Given the description of an element on the screen output the (x, y) to click on. 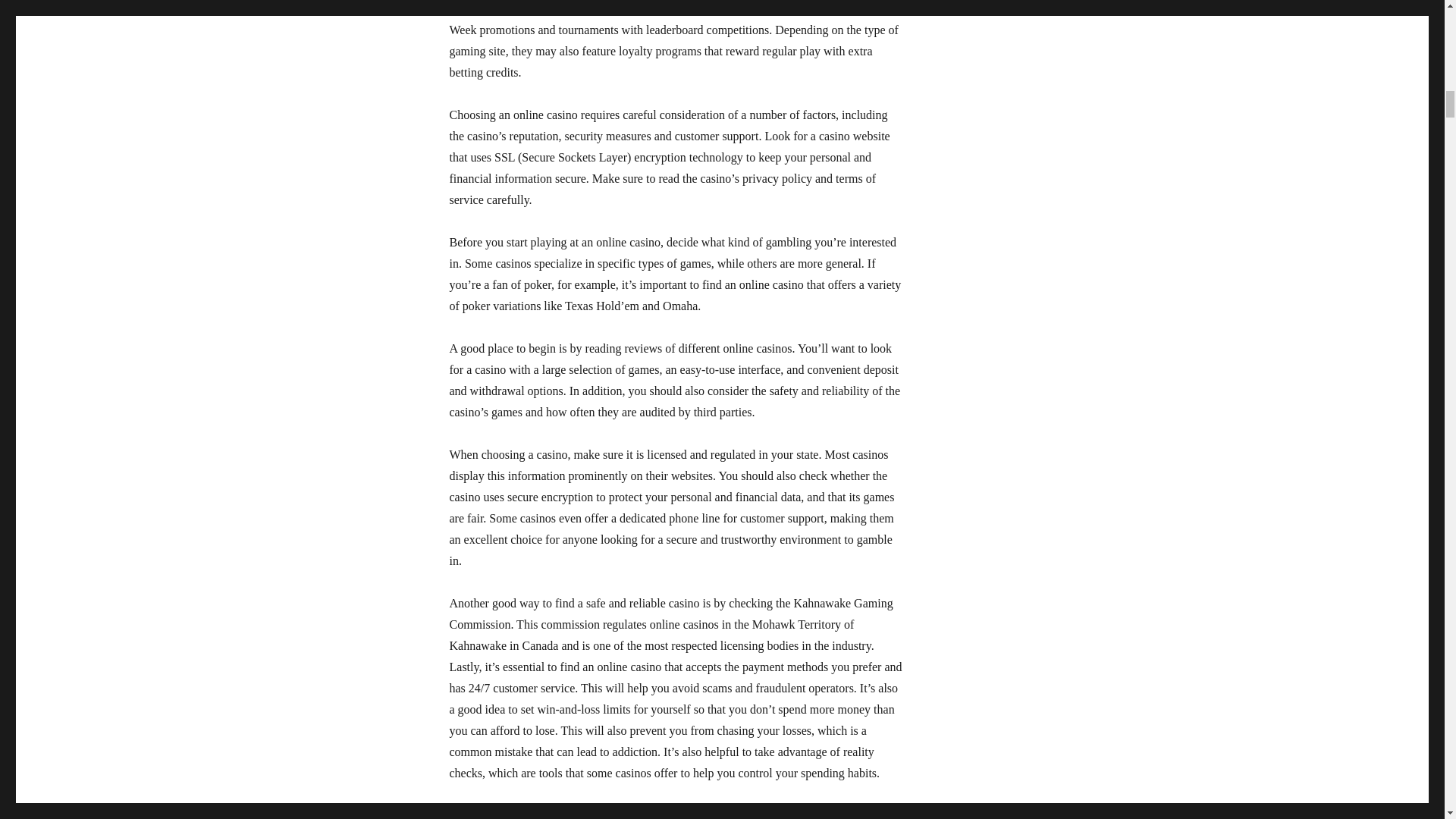
BERITA UTAMA (301, 7)
